Given the description of an element on the screen output the (x, y) to click on. 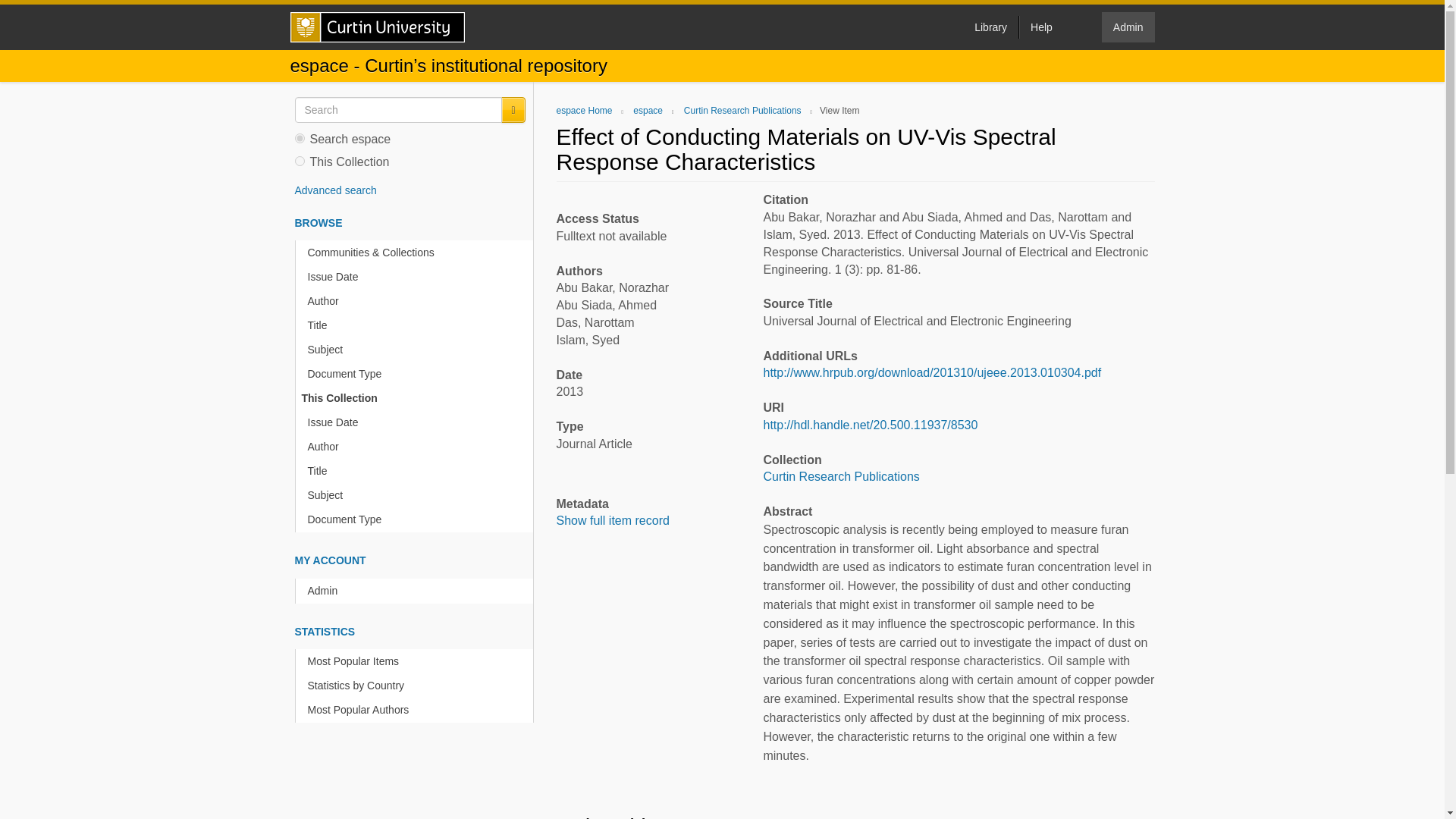
Issue Date (416, 276)
Library (989, 26)
Admin (1128, 27)
This Collection (413, 398)
Title (416, 325)
Most Popular Items (416, 661)
Admin (416, 590)
Document Type (416, 519)
Curtin Research Publications (840, 476)
Issue Date (416, 422)
Author (416, 301)
Title (416, 471)
Curtin Research Publications (743, 110)
Document Type (416, 373)
espace (647, 110)
